Given the description of an element on the screen output the (x, y) to click on. 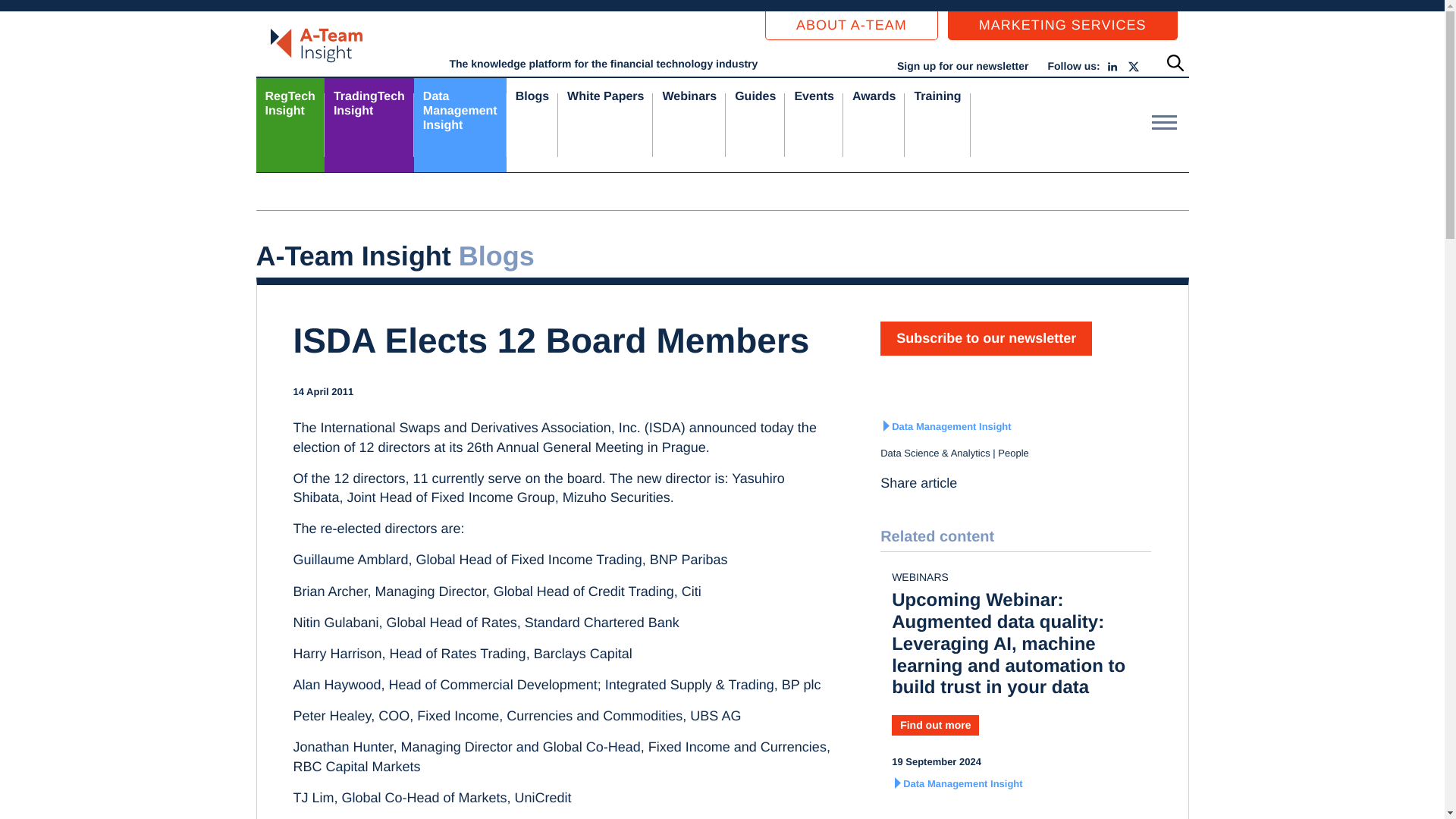
MARKETING SERVICES (459, 124)
ABOUT A-TEAM (368, 124)
Sign up for our newsletter (1062, 25)
